Given the description of an element on the screen output the (x, y) to click on. 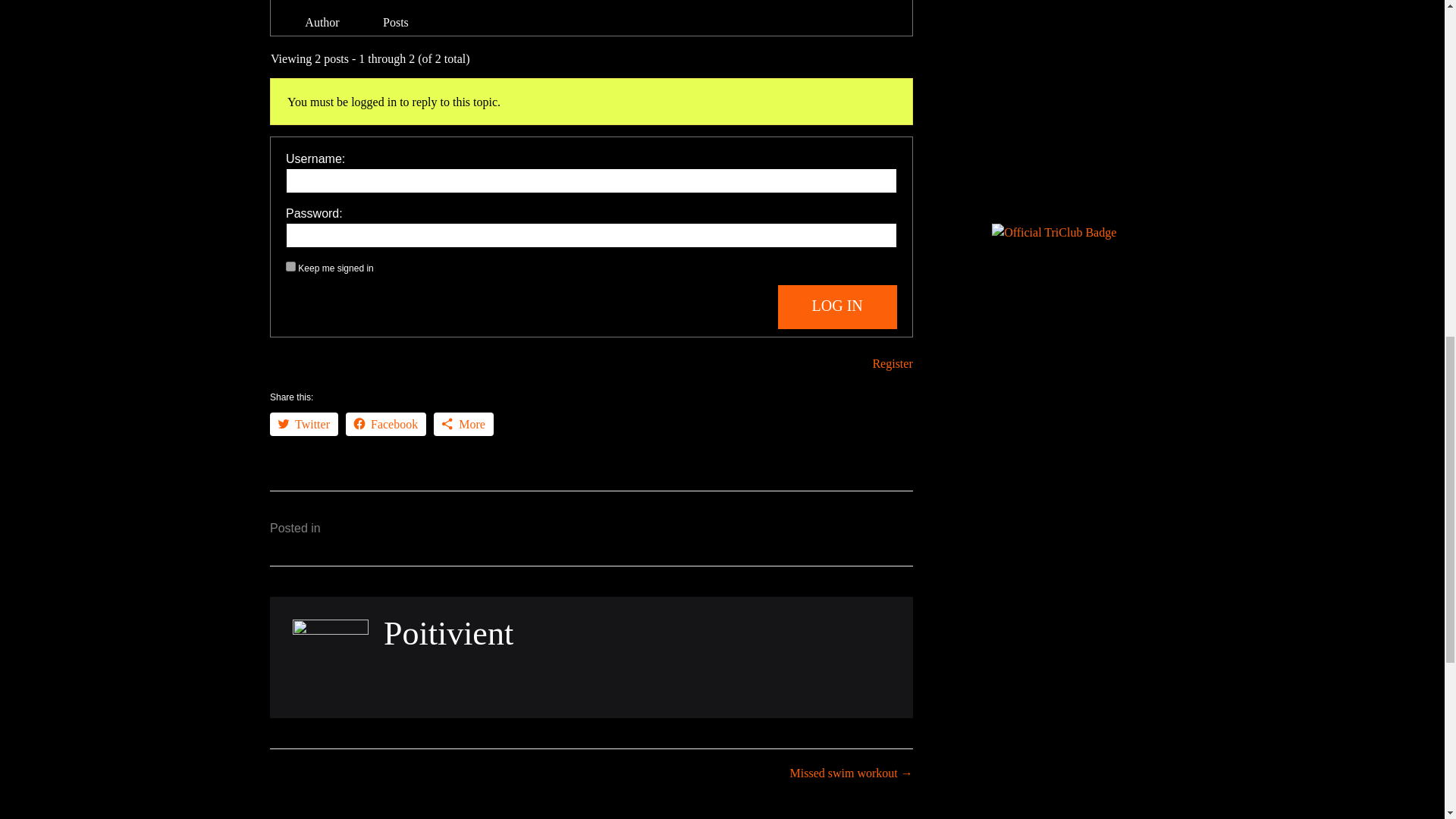
forever (290, 266)
Facebook (386, 423)
Twitter (303, 423)
Register (892, 363)
More (463, 423)
Click to share on Twitter (303, 423)
Click to share on Facebook (386, 423)
LOG IN (836, 307)
